Given the description of an element on the screen output the (x, y) to click on. 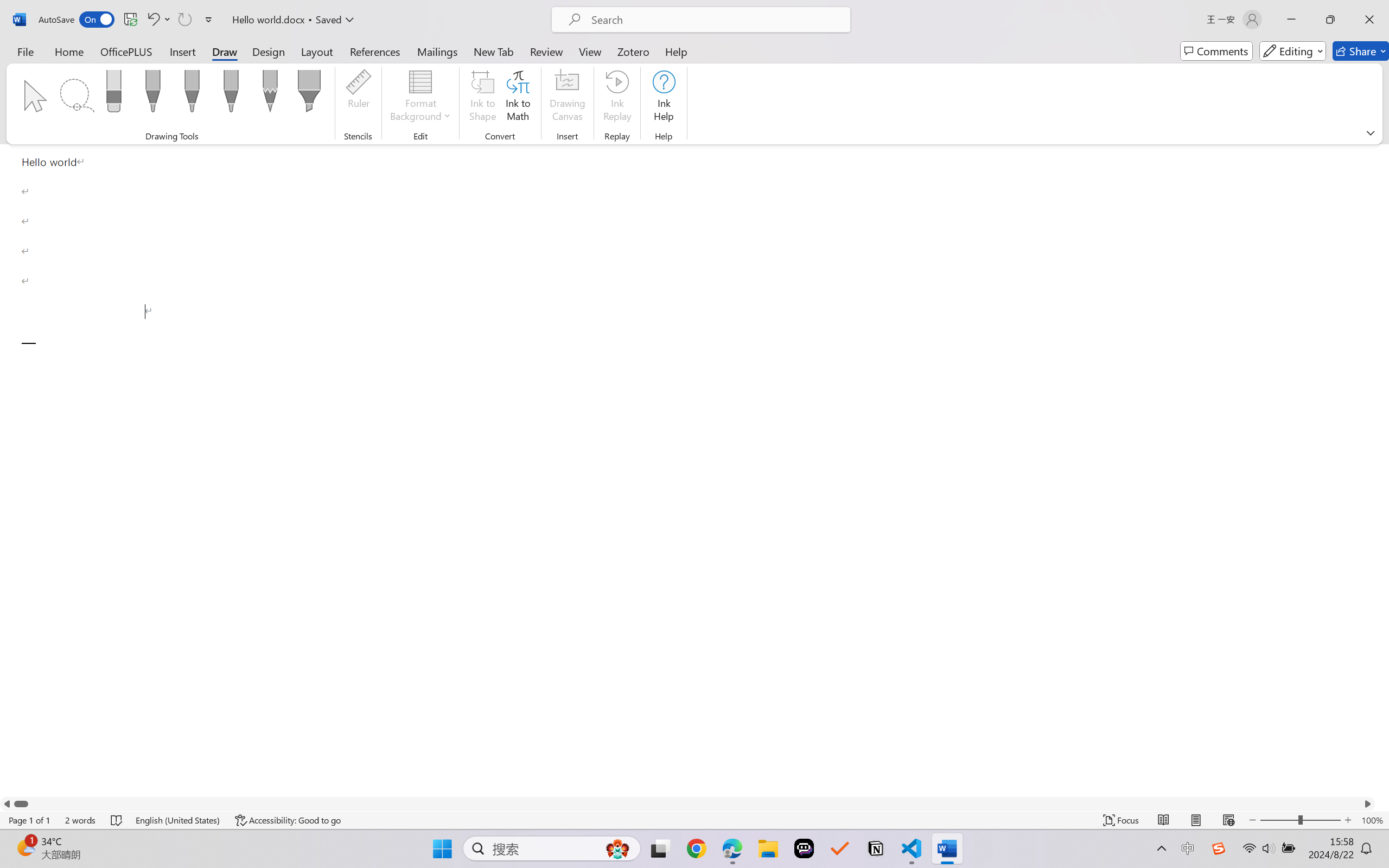
Class: MsoCommandBar (694, 819)
AutomationID: BadgeAnchorLargeTicker (24, 847)
Spelling and Grammar Check No Errors (117, 819)
Undo Paragraph Formatting (158, 19)
Design (268, 51)
Comments (1216, 50)
AutoSave (76, 19)
Zotero (632, 51)
Ink to Math (517, 97)
Quick Access Toolbar (127, 19)
Zoom 100% (1372, 819)
More Options (167, 19)
AutomationID: DynamicSearchBoxGleamImage (617, 848)
Share (1360, 51)
File Tab (24, 51)
